Given the description of an element on the screen output the (x, y) to click on. 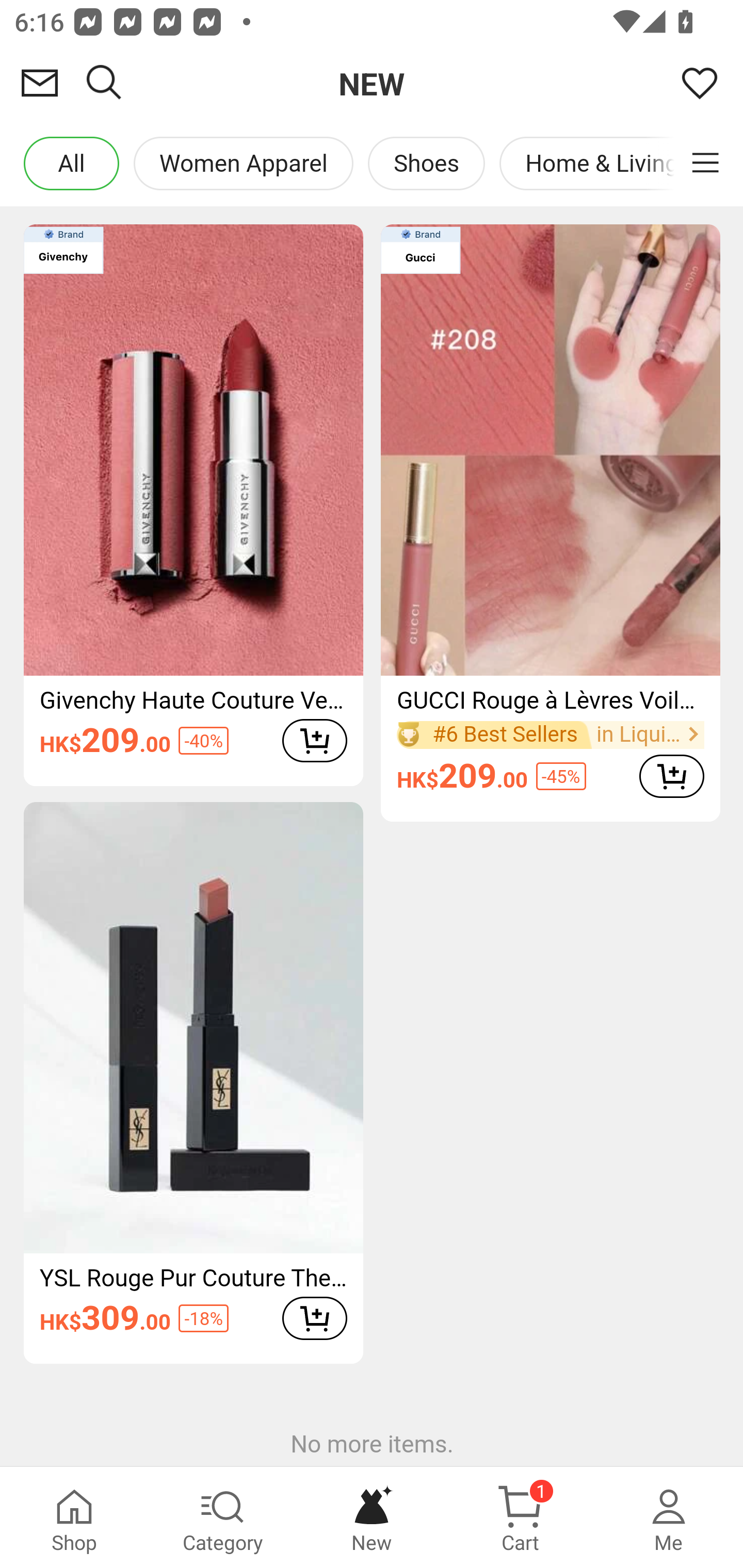
Search NEW Wishlist (371, 82)
Search (104, 82)
Wishlist (699, 82)
All (70, 162)
Women Apparel (242, 162)
Shoes (425, 162)
Home & Living (601, 162)
 (704, 162)
Shop (74, 1517)
Category (222, 1517)
Cart 1 Cart (519, 1517)
Me (668, 1517)
